Given the description of an element on the screen output the (x, y) to click on. 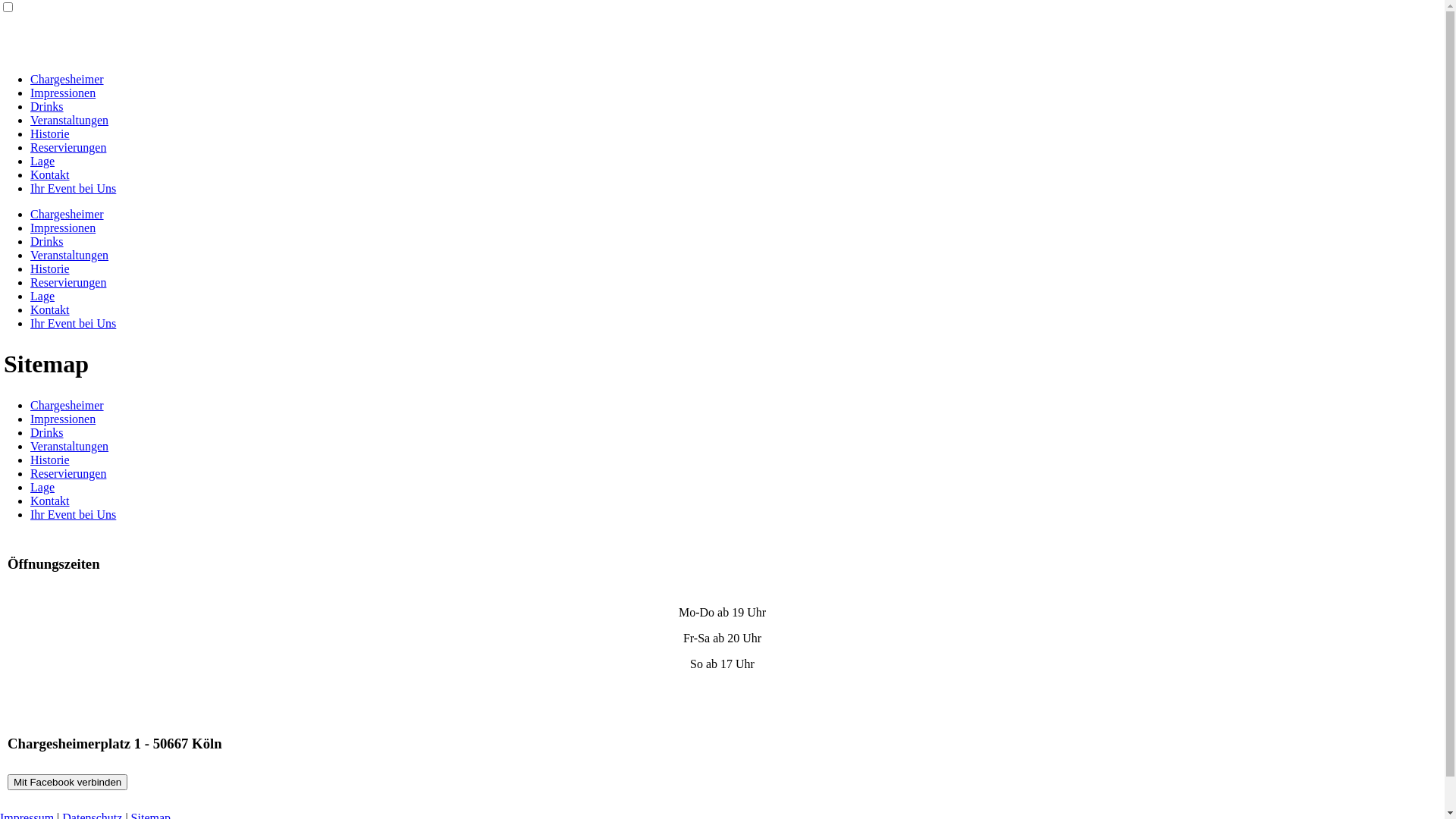
Mit Facebook verbinden Element type: text (67, 782)
Lage Element type: text (42, 295)
Impressionen Element type: text (62, 92)
Kontakt Element type: text (49, 500)
Reservierungen Element type: text (68, 147)
Impressionen Element type: text (62, 418)
Drinks Element type: text (46, 432)
Historie Element type: text (49, 268)
Kontakt Element type: text (49, 174)
Ihr Event bei Uns Element type: text (73, 188)
Chargesheimer Element type: text (66, 404)
Reservierungen Element type: text (68, 473)
Ihr Event bei Uns Element type: text (73, 322)
Veranstaltungen Element type: text (69, 445)
Reservierungen Element type: text (68, 282)
Historie Element type: text (49, 459)
Drinks Element type: text (46, 241)
Historie Element type: text (49, 133)
Chargesheimer Element type: text (66, 78)
Lage Element type: text (42, 160)
Chargesheimer Element type: text (66, 213)
Kontakt Element type: text (49, 309)
Impressionen Element type: text (62, 227)
Veranstaltungen Element type: text (69, 254)
Drinks Element type: text (46, 106)
Ihr Event bei Uns Element type: text (73, 514)
Veranstaltungen Element type: text (69, 119)
Lage Element type: text (42, 486)
